Given the description of an element on the screen output the (x, y) to click on. 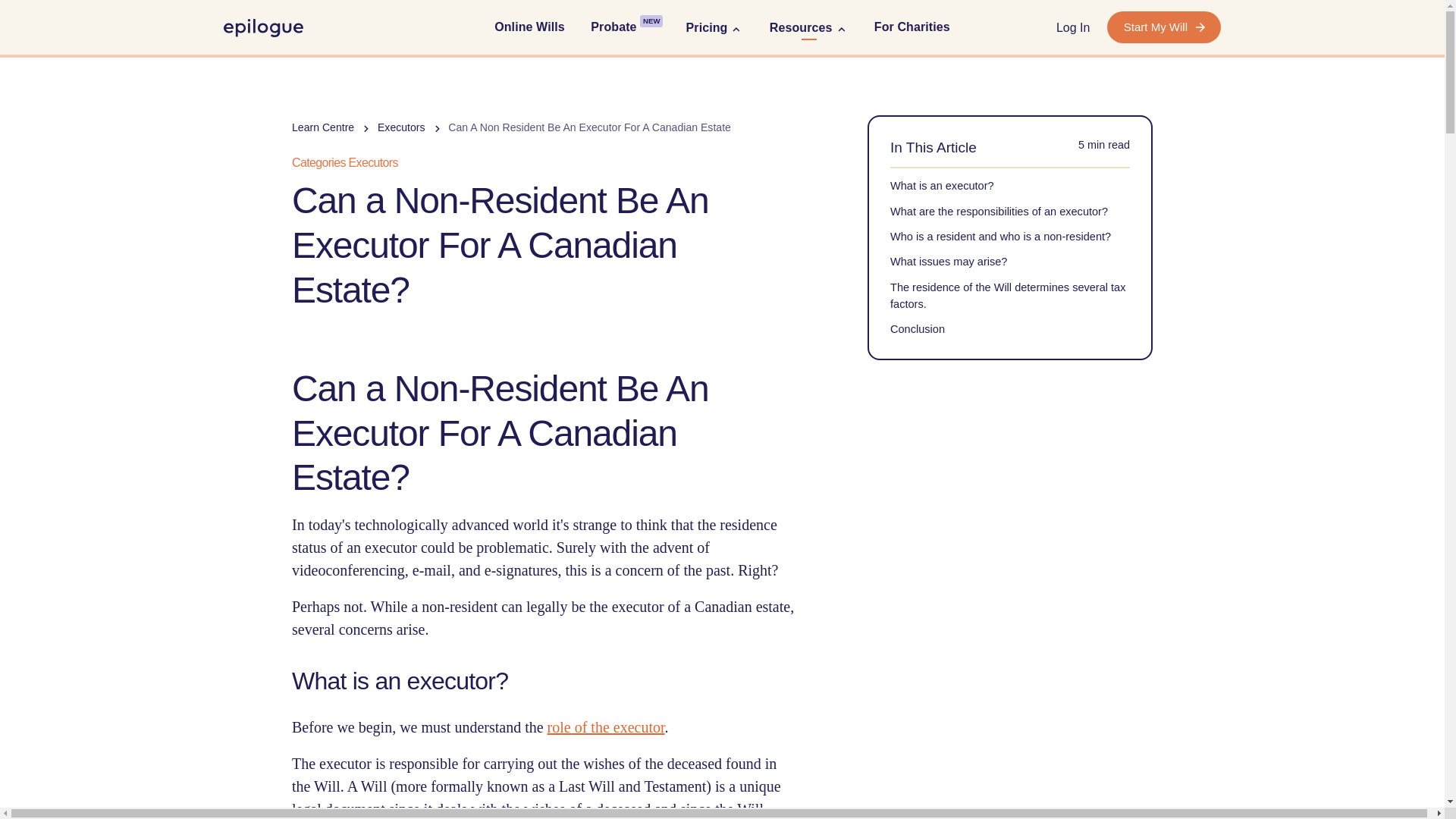
What is an executor? (941, 184)
role of the executor (606, 727)
Learn Centre (322, 127)
Online Wills (529, 27)
Executors (401, 127)
Start My Will (1163, 27)
The residence of the Will determines several tax factors. (1007, 295)
Log In (1073, 27)
What issues may arise? (948, 260)
Probate (613, 27)
For Charities (912, 27)
Who is a resident and who is a non-resident? (999, 235)
What are the responsibilities of an executor? (998, 210)
Conclusion (916, 327)
Categories Executors (349, 162)
